Given the description of an element on the screen output the (x, y) to click on. 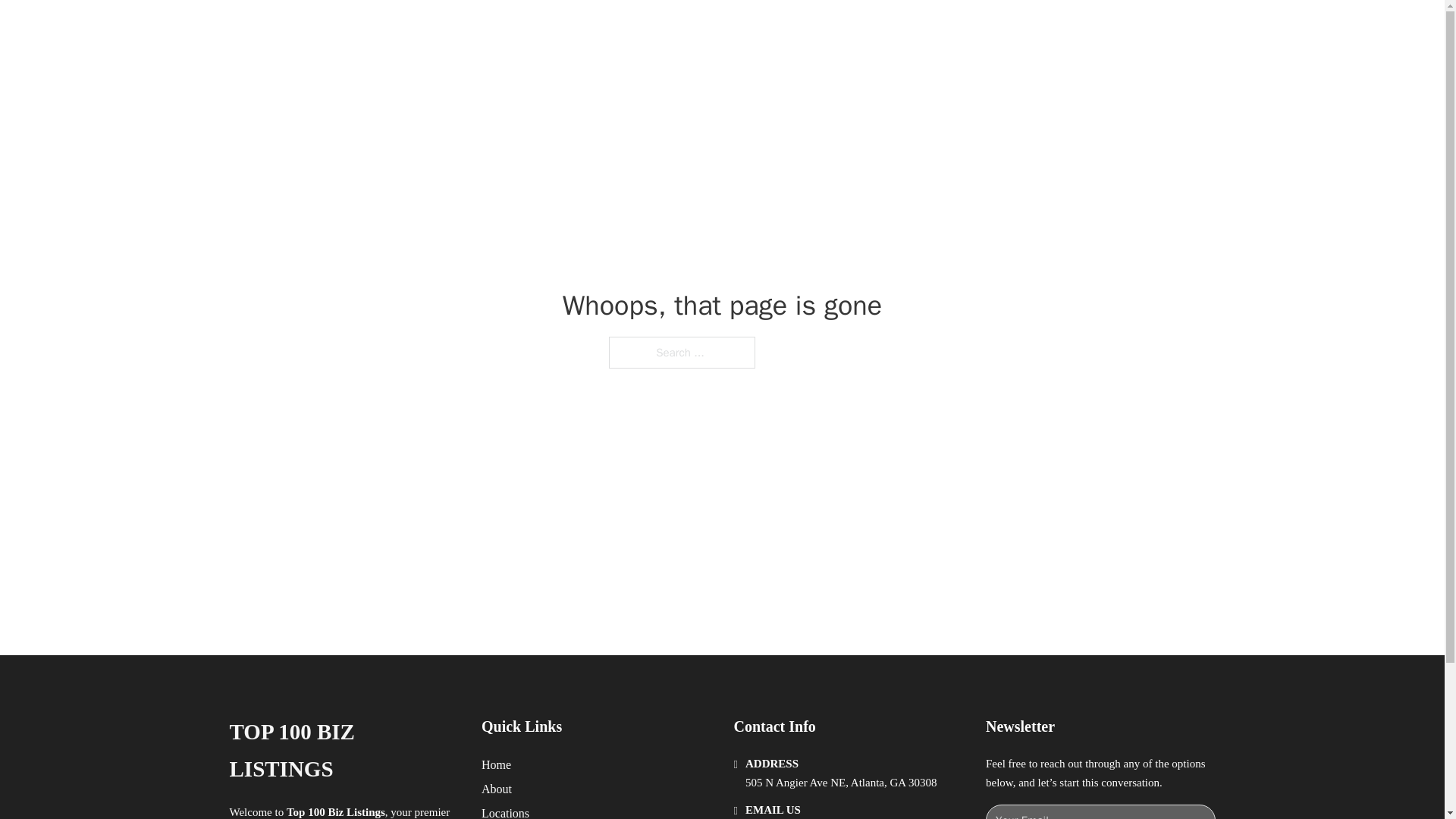
TOP 100 Biz Listings (412, 28)
Locations (505, 811)
About (496, 788)
Home (496, 764)
TOP 100 BIZ LISTINGS (343, 750)
HOME (919, 29)
LOCATIONS (990, 29)
